Given the description of an element on the screen output the (x, y) to click on. 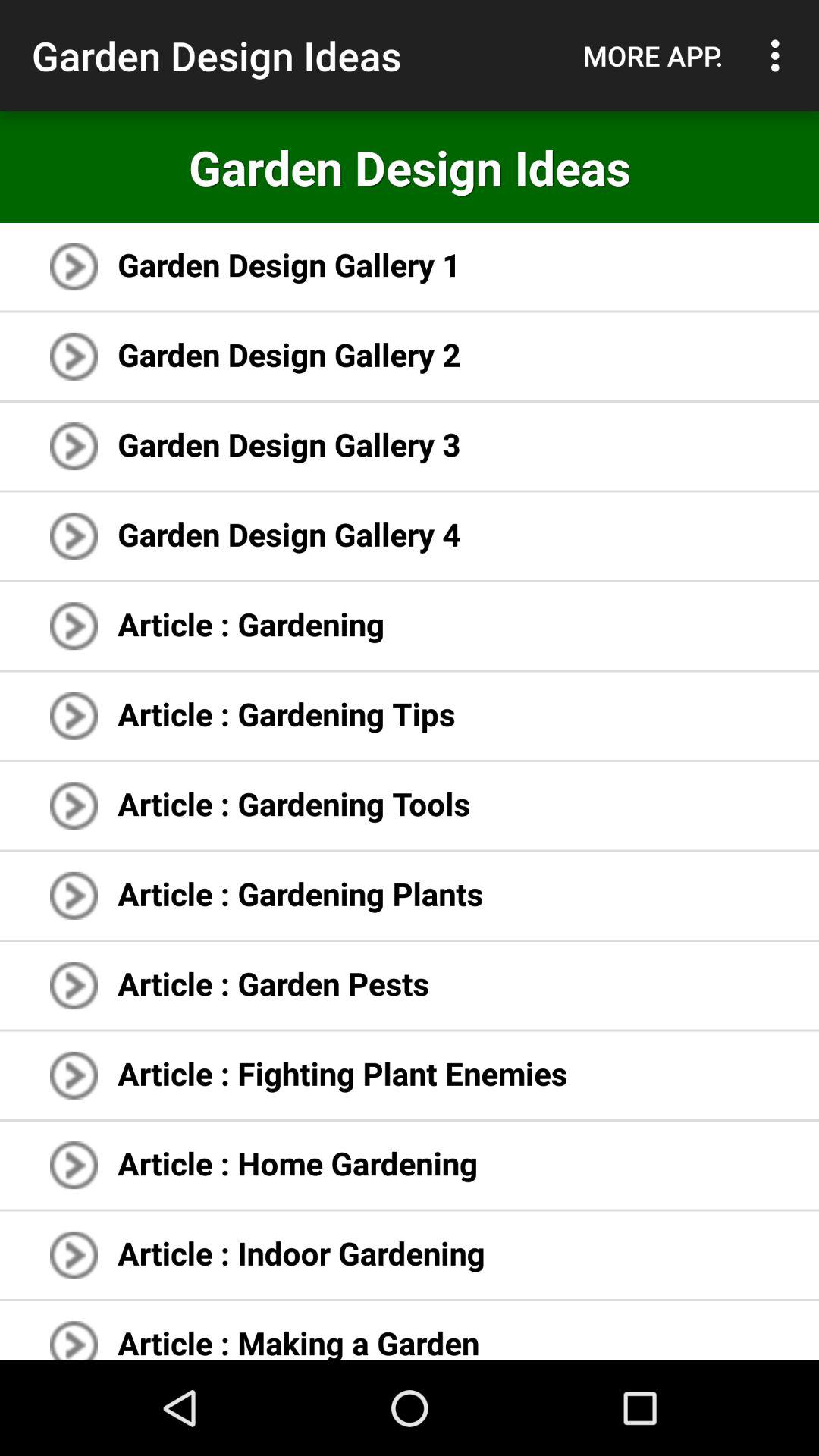
press the icon next to garden design ideas (653, 55)
